Given the description of an element on the screen output the (x, y) to click on. 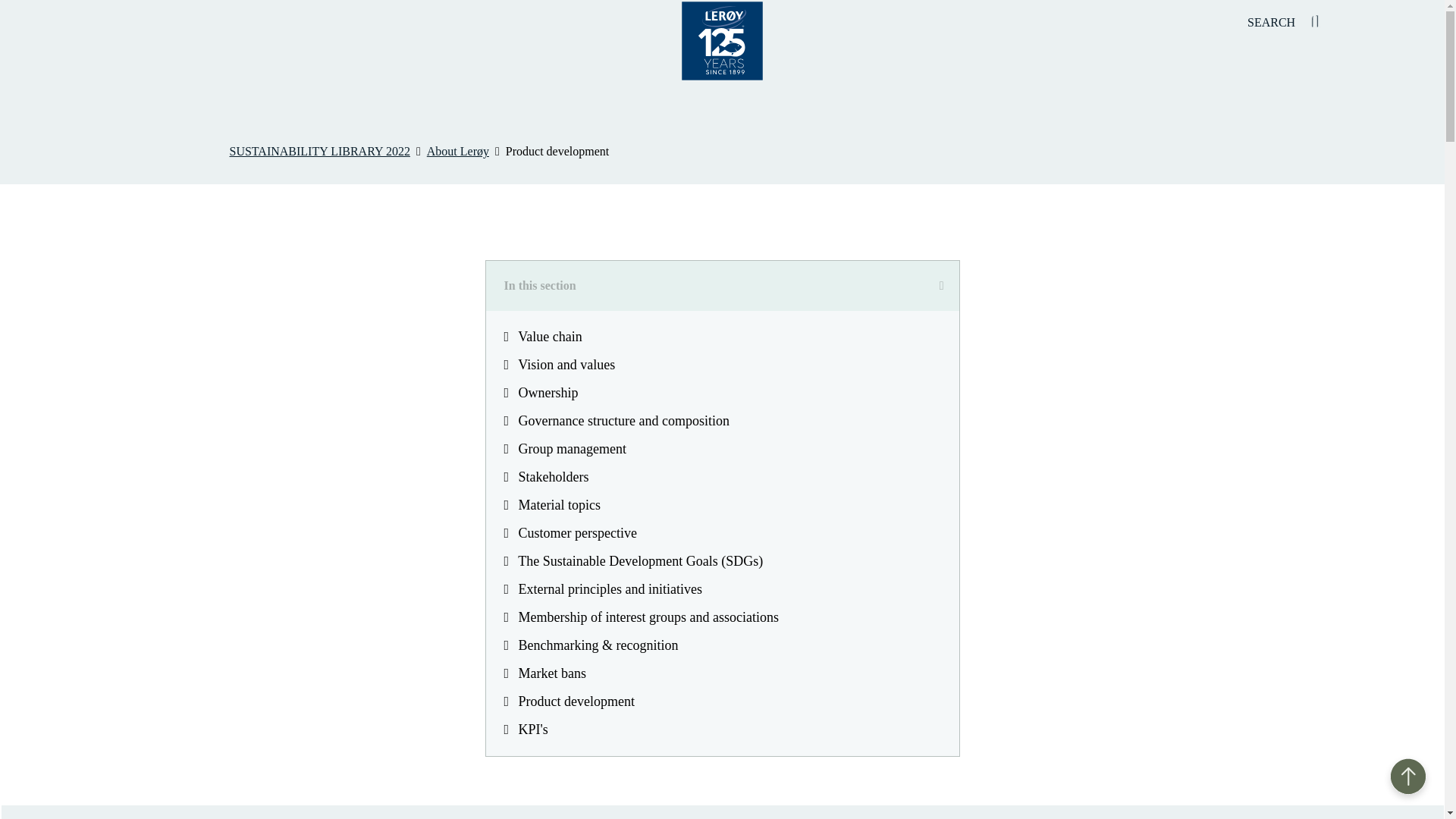
SEARCH (1284, 22)
External principles and initiatives (721, 589)
Group management (721, 448)
Stakeholders (721, 477)
Customer perspective (721, 533)
In this section (721, 286)
Vision and values (721, 365)
Product development (721, 701)
Material topics (721, 505)
KPI's (721, 729)
Membership of interest groups and associations (721, 617)
Market bans (721, 673)
Ownership (721, 393)
Value chain (721, 336)
Governance structure and composition (721, 420)
